Given the description of an element on the screen output the (x, y) to click on. 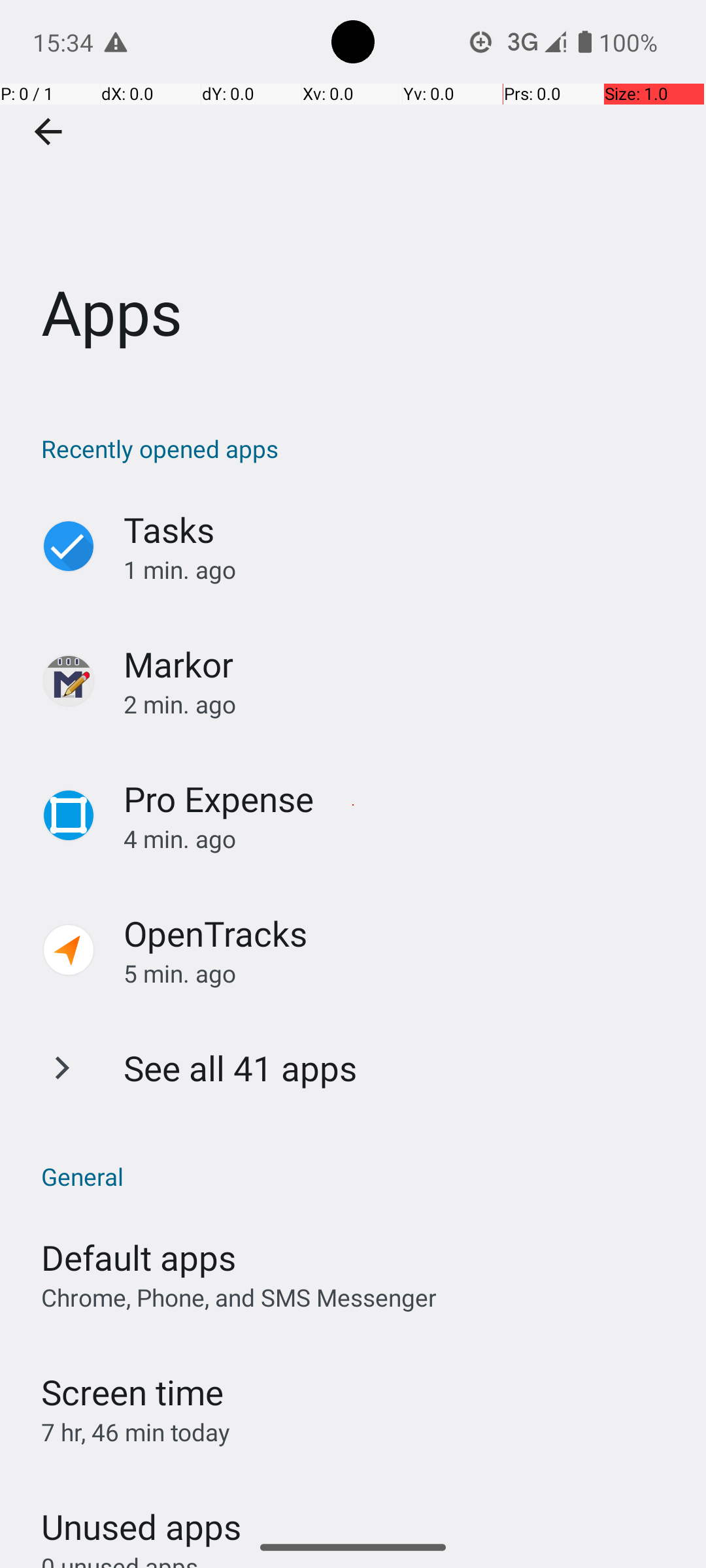
Recently opened apps Element type: android.widget.TextView (359, 448)
1 min. ago Element type: android.widget.TextView (400, 569)
2 min. ago Element type: android.widget.TextView (400, 703)
Pro Expense Element type: android.widget.TextView (218, 798)
4 min. ago Element type: android.widget.TextView (400, 838)
5 min. ago Element type: android.widget.TextView (400, 972)
See all 41 apps Element type: android.widget.TextView (239, 1067)
Default apps Element type: android.widget.TextView (138, 1257)
Chrome, Phone, and SMS Messenger Element type: android.widget.TextView (238, 1296)
7 hr, 46 min today Element type: android.widget.TextView (135, 1431)
Unused apps Element type: android.widget.TextView (141, 1514)
